Given the description of an element on the screen output the (x, y) to click on. 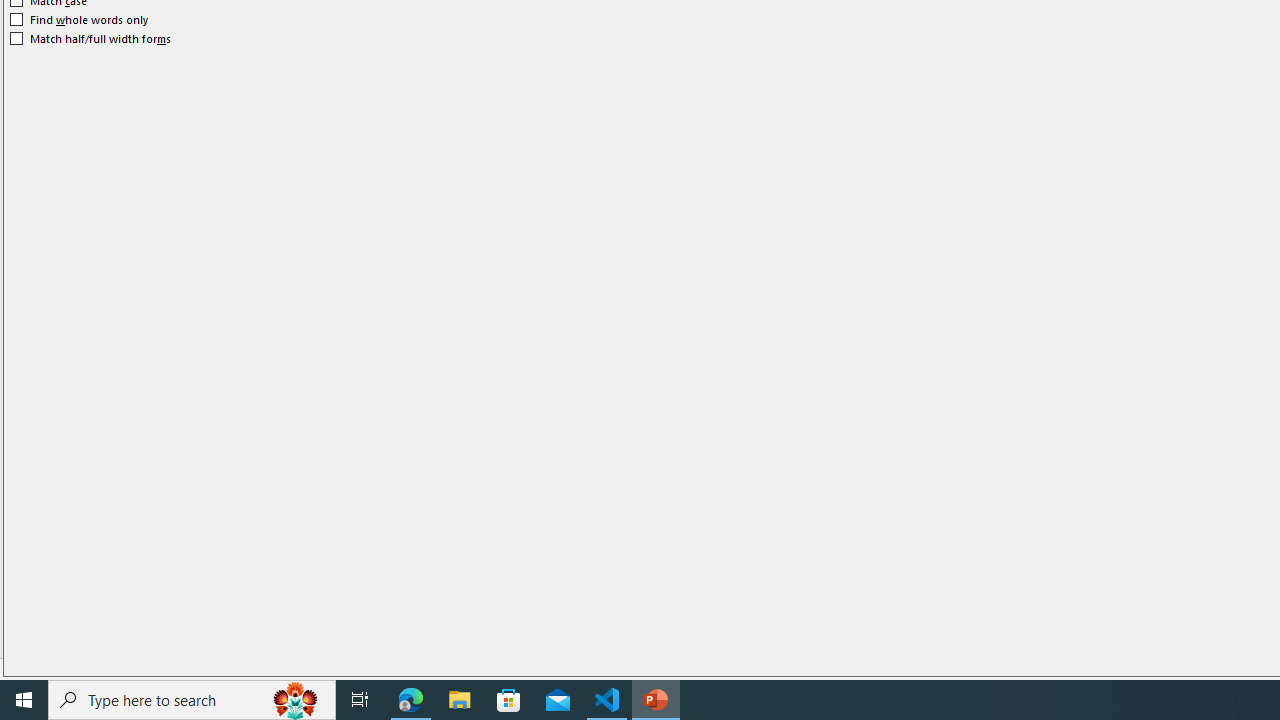
Find whole words only (79, 20)
Match half/full width forms (91, 38)
